Given the description of an element on the screen output the (x, y) to click on. 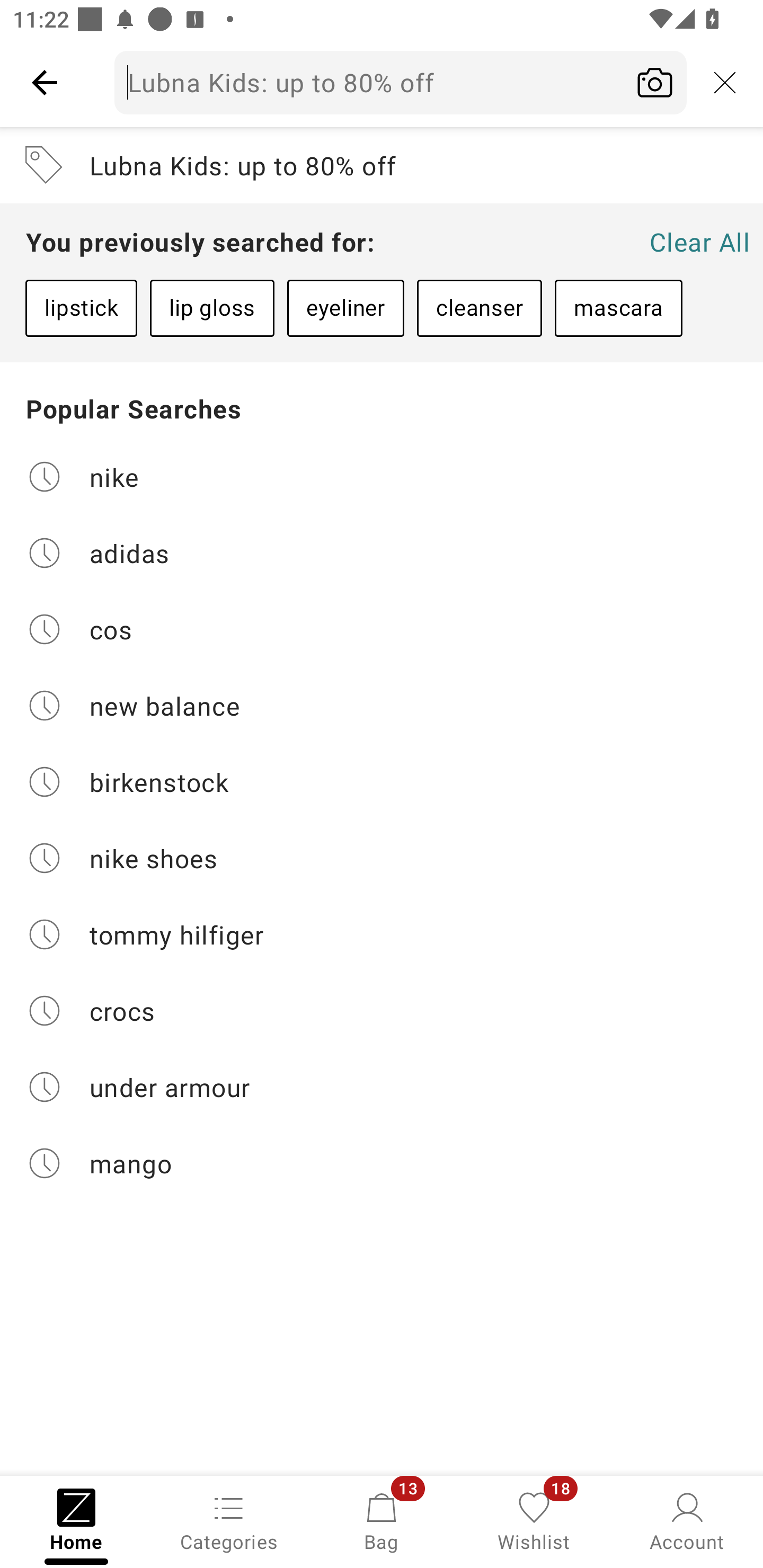
Navigate up (44, 82)
Lubna Kids: up to 80% off (400, 82)
Lubna Kids: up to 80% off (381, 165)
Clear All (699, 241)
lipstick (81, 308)
lip gloss (212, 308)
eyeliner (345, 308)
cleanser (479, 308)
mascara (618, 308)
nike (381, 476)
adidas (381, 552)
cos (381, 629)
new balance (381, 705)
birkenstock (381, 781)
nike shoes (381, 858)
tommy hilfiger (381, 934)
crocs (381, 1010)
under armour (381, 1086)
mango (381, 1163)
Categories (228, 1519)
Bag, 13 new notifications Bag (381, 1519)
Wishlist, 18 new notifications Wishlist (533, 1519)
Account (686, 1519)
